Given the description of an element on the screen output the (x, y) to click on. 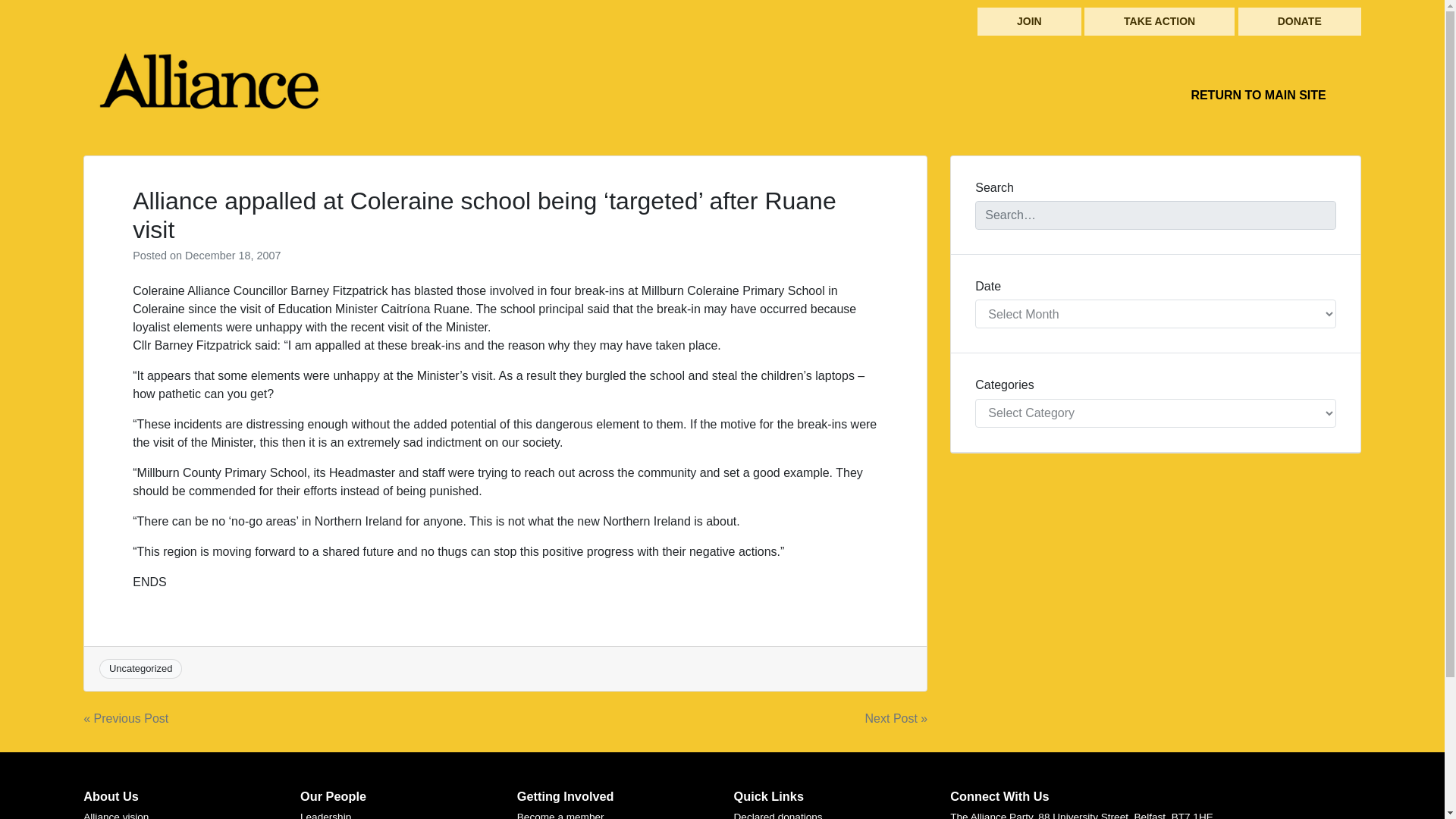
Declared donations (777, 815)
DONATE (1300, 21)
JOIN (1028, 21)
Alliance vision (115, 815)
RETURN TO MAIN SITE (1257, 95)
December 18, 2007 (232, 255)
Leadership (324, 815)
Become a member (560, 815)
TAKE ACTION (1159, 21)
